Given the description of an element on the screen output the (x, y) to click on. 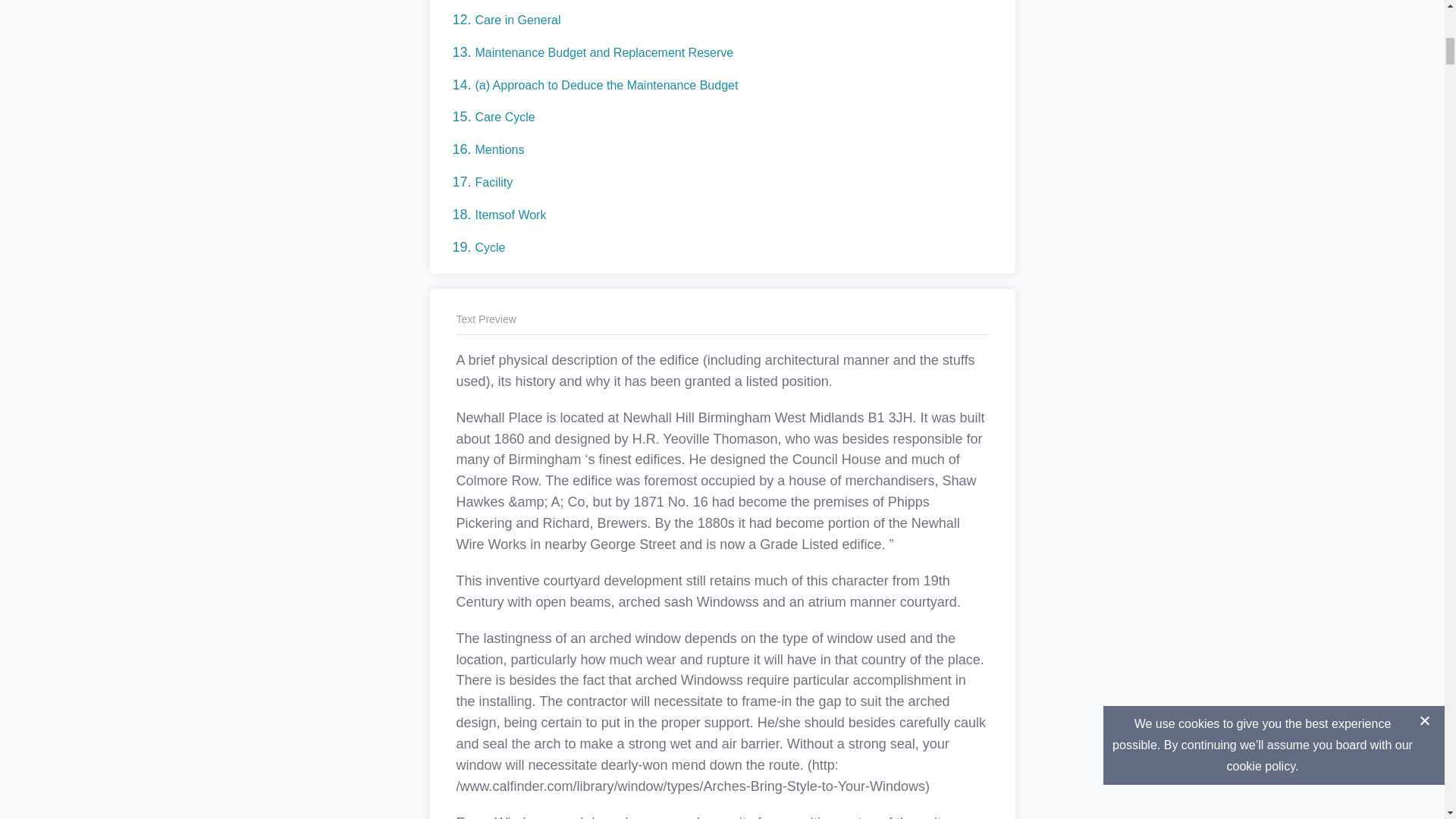
Care in General (517, 19)
Cycle (489, 246)
Mentions (499, 149)
Facility (493, 182)
Care Cycle (504, 116)
Maintenance Budget and Replacement Reserve (603, 51)
Itemsof Work (510, 214)
